Given the description of an element on the screen output the (x, y) to click on. 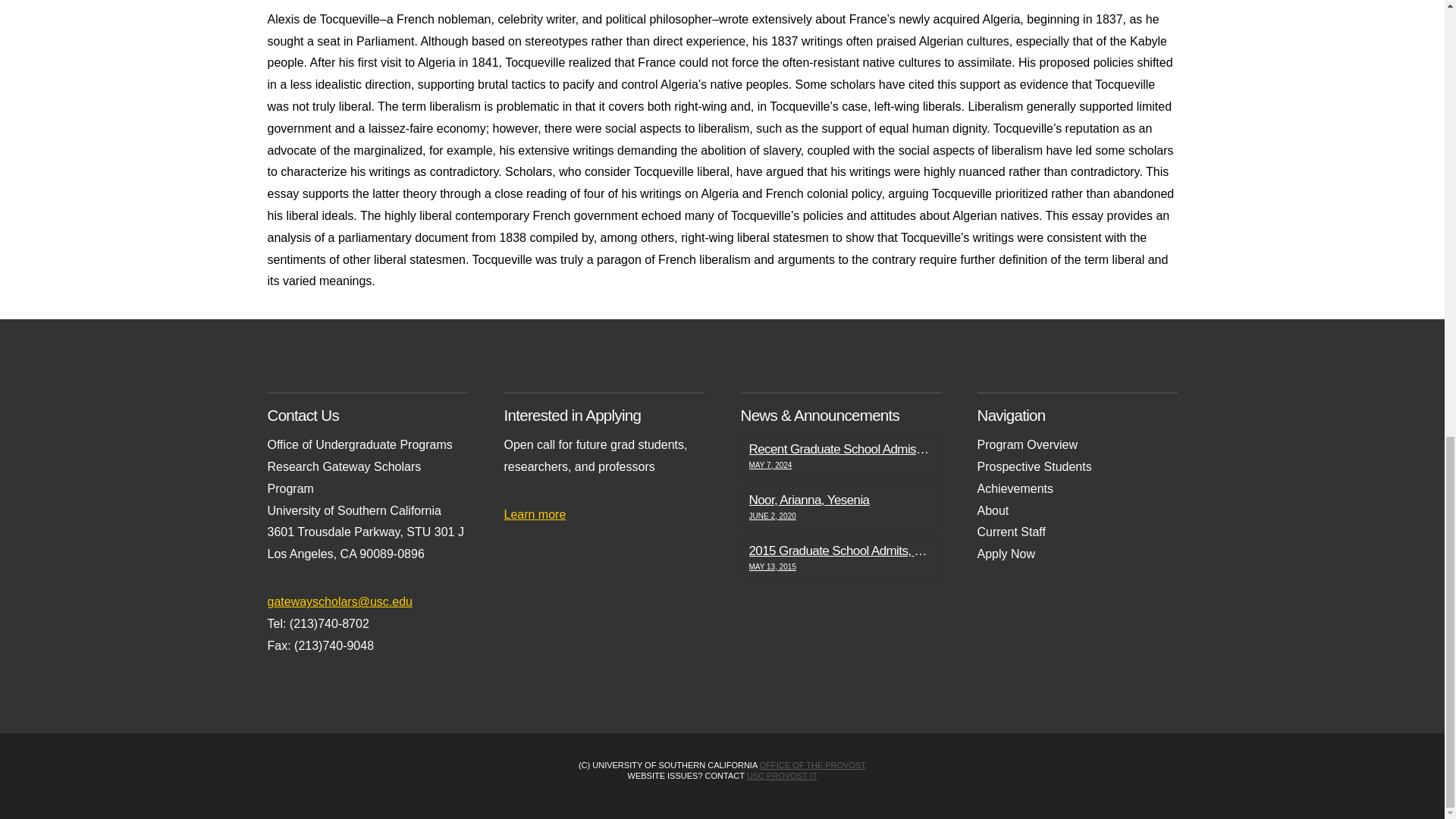
Permalink to: "Recent Graduate School Admission Offers!" (839, 455)
Permalink to: "Noor, Arianna, Yesenia" (839, 506)
